Given the description of an element on the screen output the (x, y) to click on. 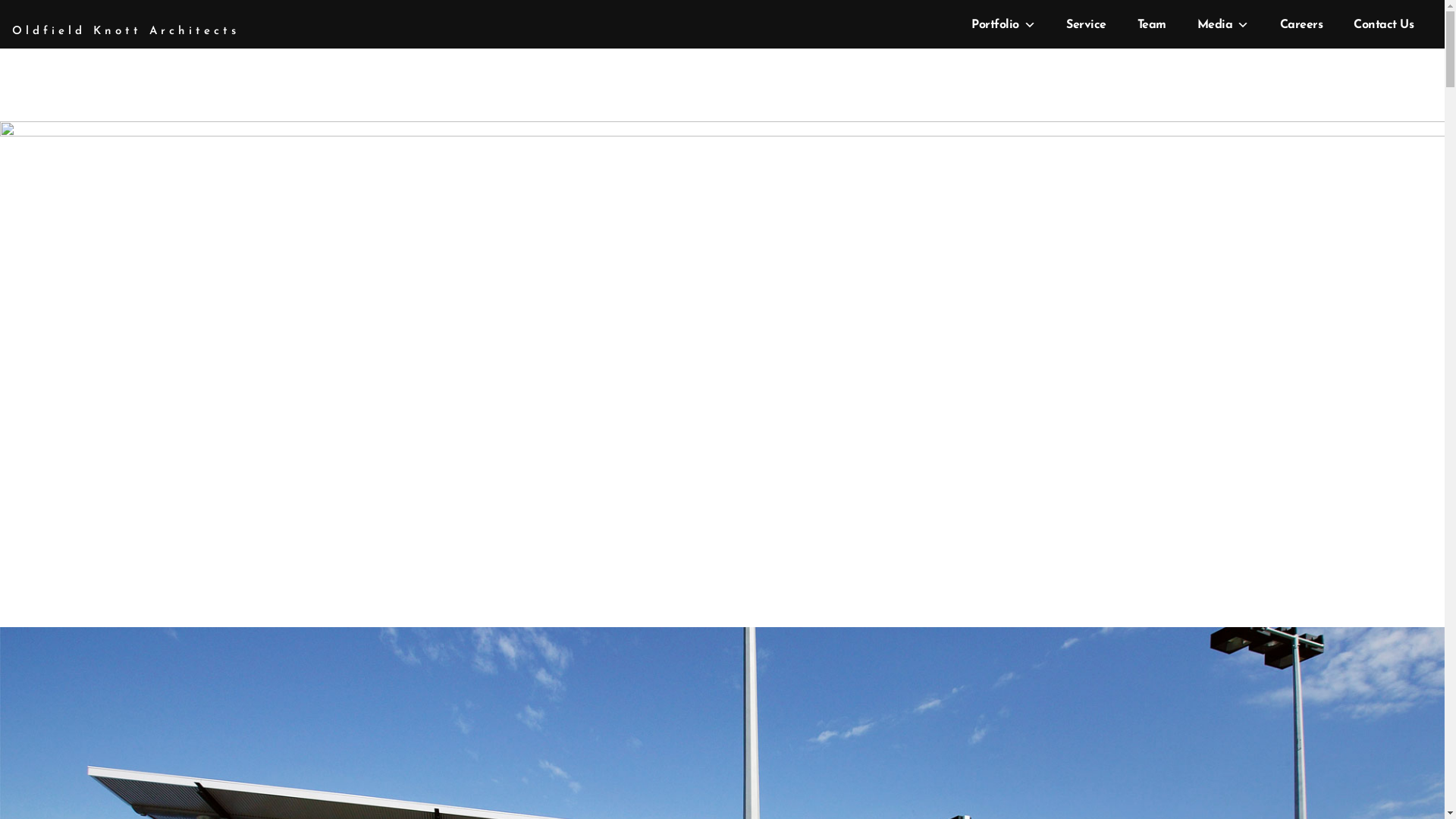
Oldfield Knott Architects Element type: text (125, 31)
Contact Us Element type: text (1381, 24)
Service Element type: text (1083, 24)
Team Element type: text (1149, 24)
Portfolio Element type: text (1000, 24)
Careers Element type: text (1298, 24)
Media Element type: text (1219, 24)
